Given the description of an element on the screen output the (x, y) to click on. 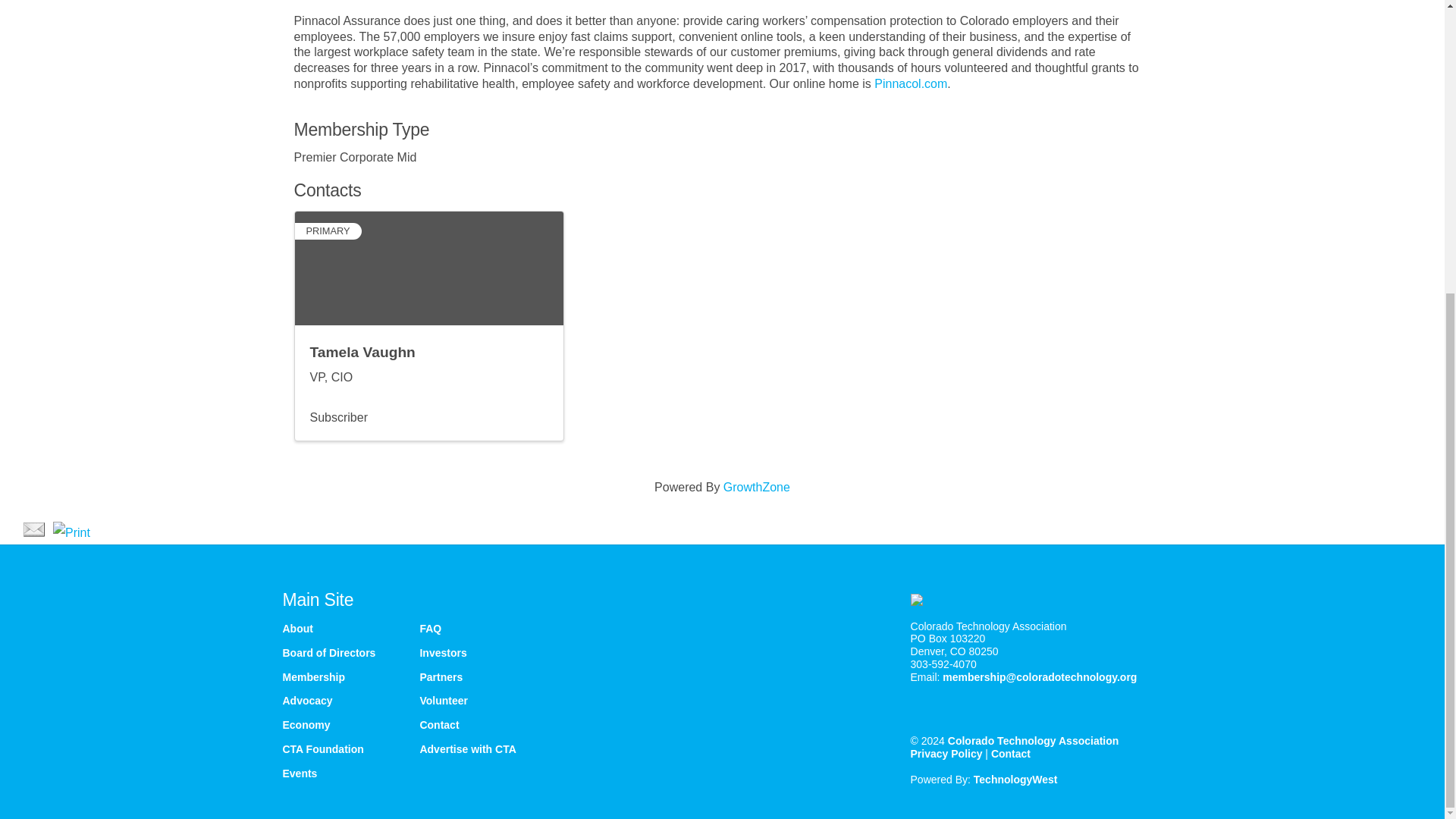
Pinnacol.com (911, 83)
GrowthZone (756, 486)
Email (34, 529)
Print (71, 532)
